Given the description of an element on the screen output the (x, y) to click on. 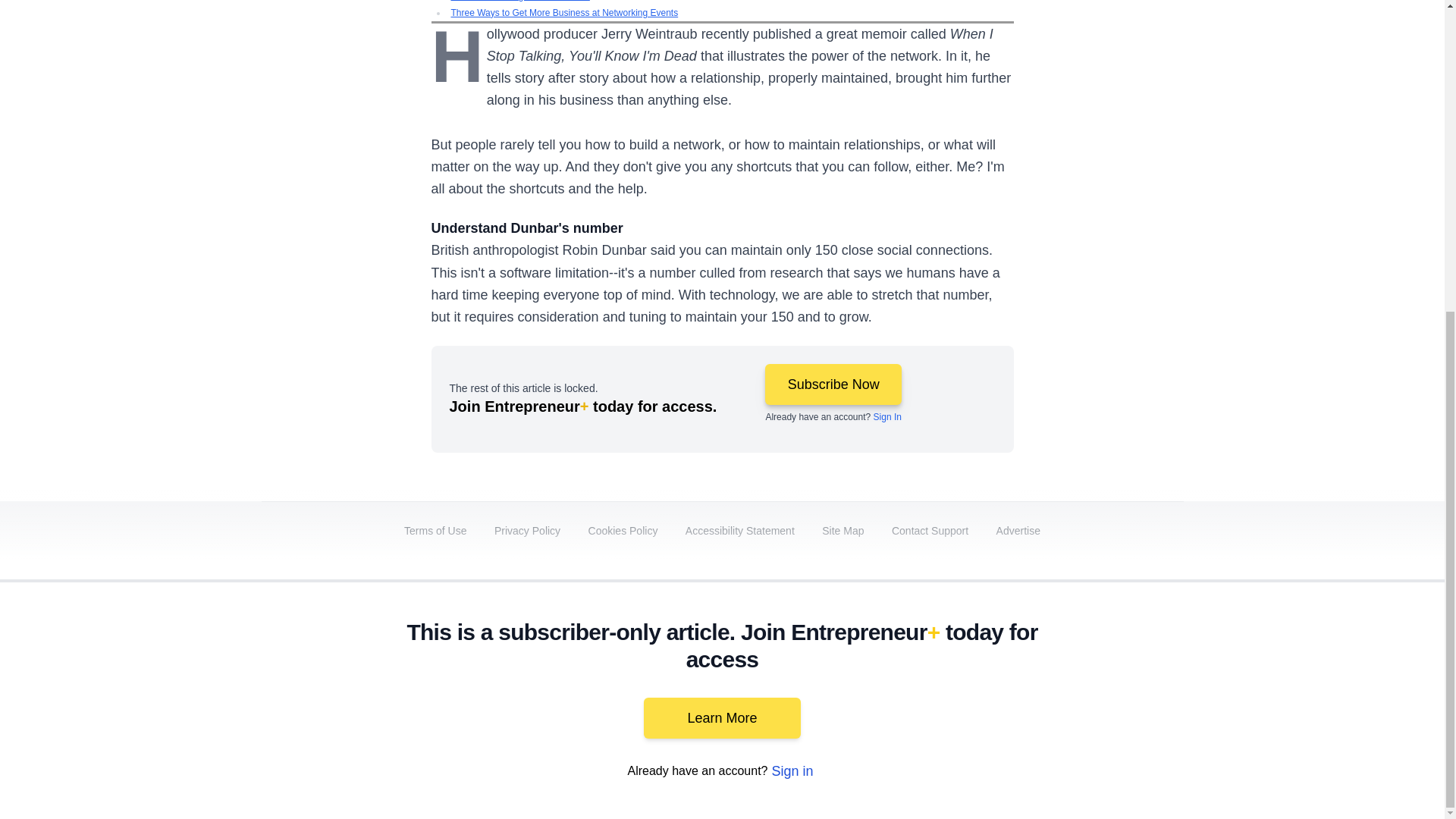
tiktok (1079, 691)
instagram (1037, 691)
youtube (994, 691)
facebook (866, 691)
snapchat (1121, 691)
linkedin (952, 691)
rss (1164, 691)
twitter (909, 691)
